Given the description of an element on the screen output the (x, y) to click on. 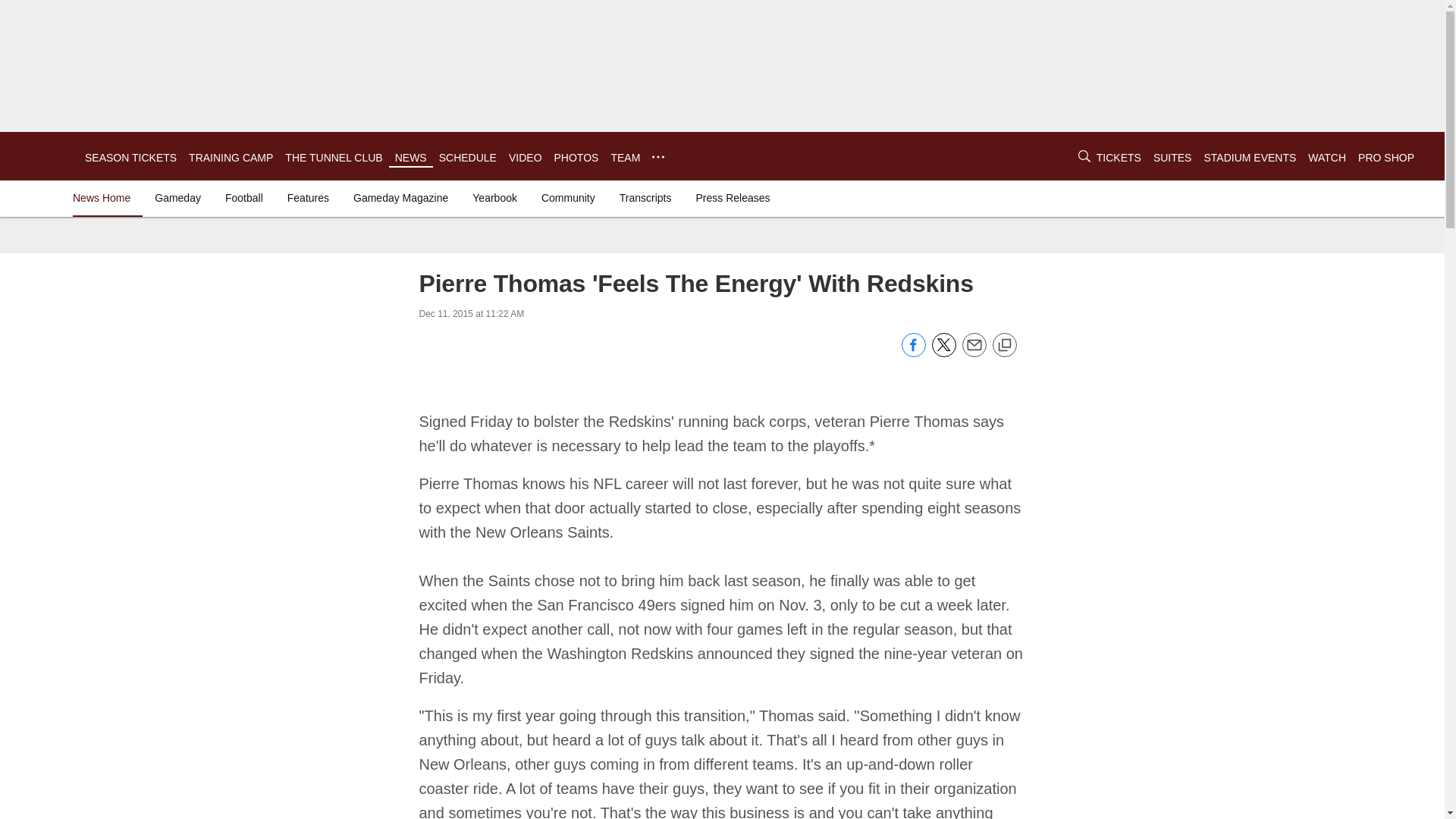
Community (568, 197)
WATCH (1326, 157)
Gameday Magazine (400, 197)
TRAINING CAMP (231, 157)
TICKETS (1118, 157)
News Home (104, 197)
TRAINING CAMP (231, 157)
Gameday (177, 197)
SUITES (1172, 157)
Yearbook (493, 197)
TEAM (625, 157)
STADIUM EVENTS (1249, 157)
Link to club's homepage (42, 156)
VIDEO (524, 157)
TEAM (625, 157)
